Given the description of an element on the screen output the (x, y) to click on. 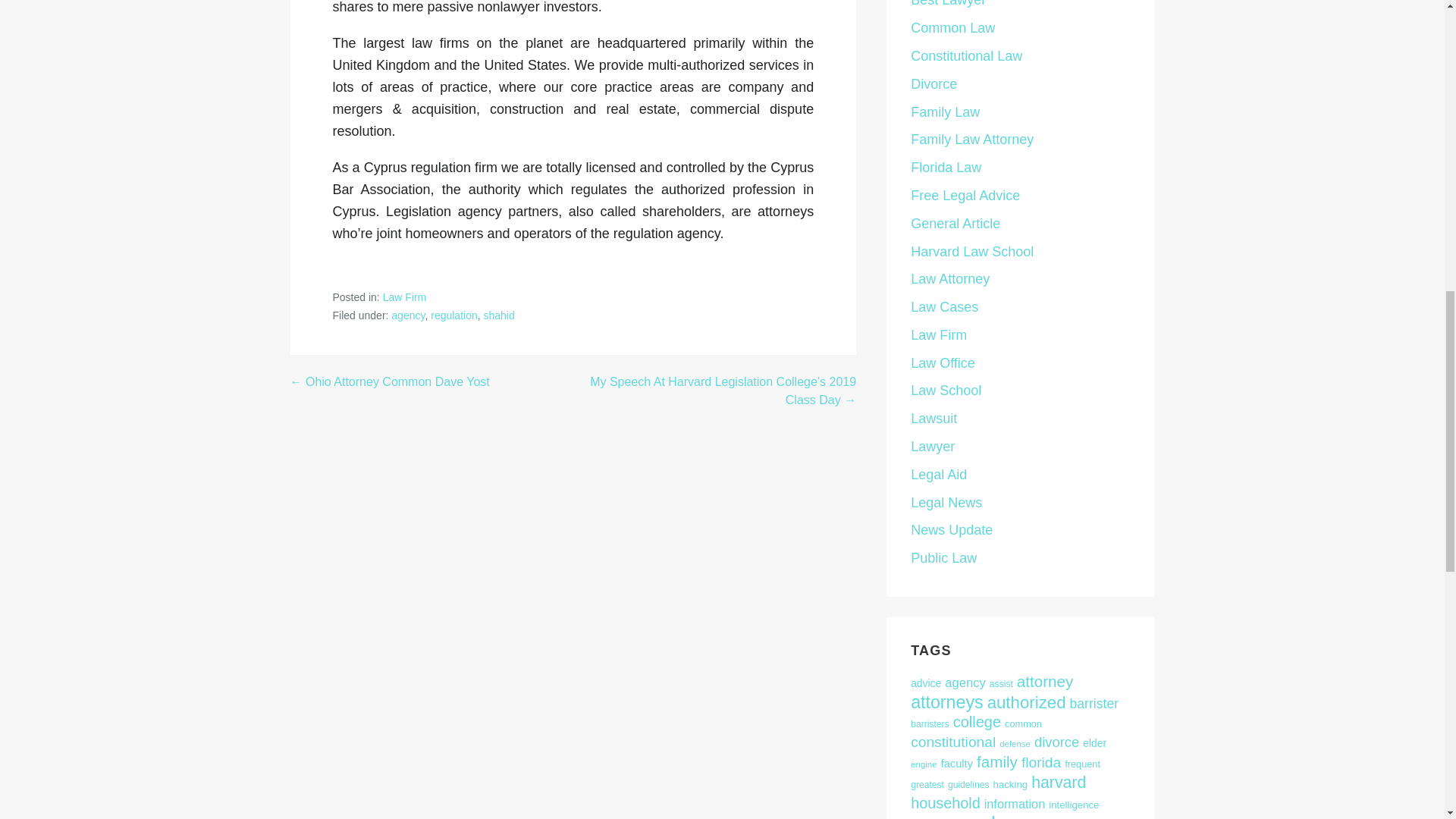
regulation (453, 315)
shahid (499, 315)
agency (408, 315)
Law Firm (404, 297)
